Given the description of an element on the screen output the (x, y) to click on. 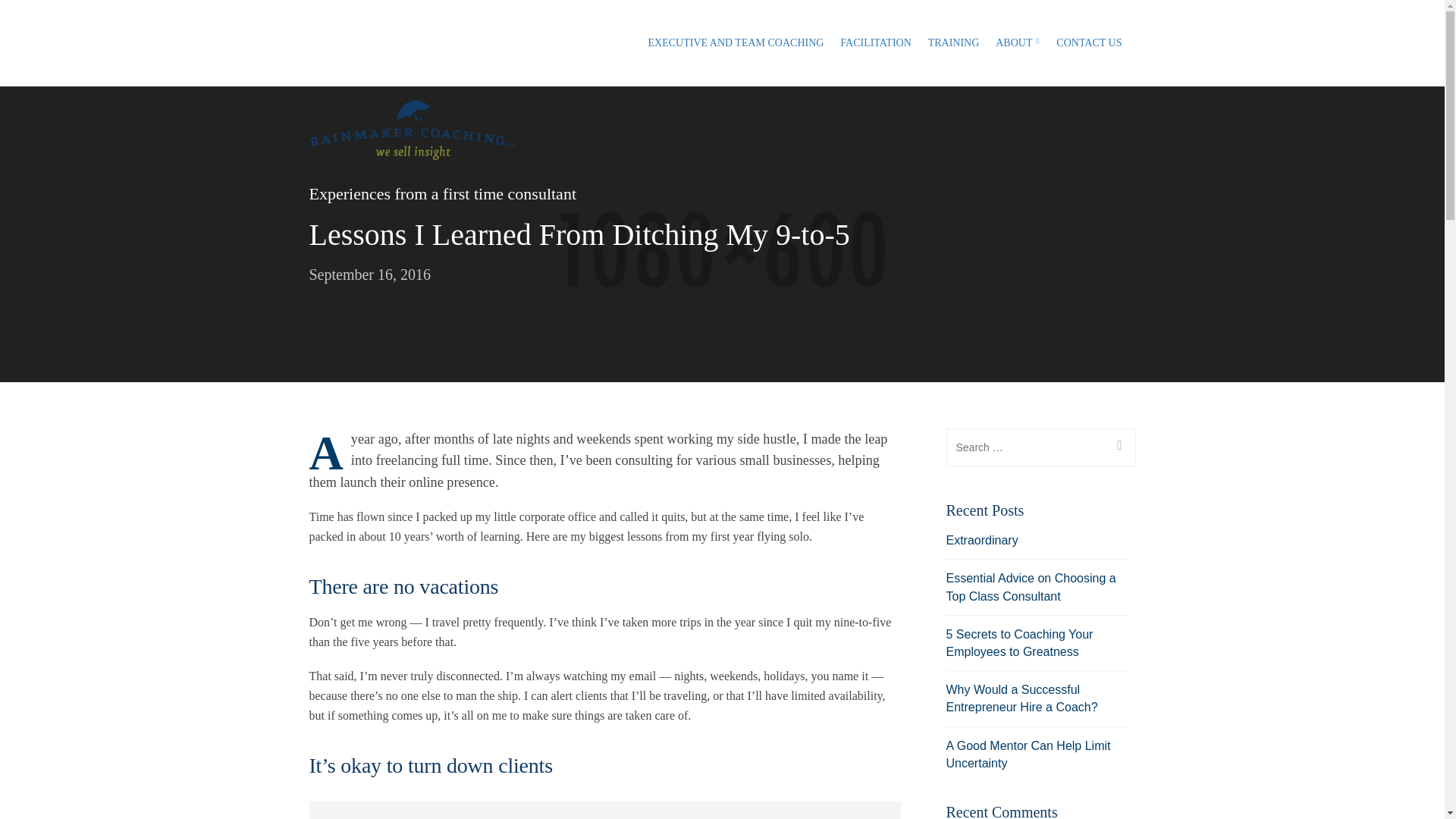
EXECUTIVE AND TEAM COACHING (735, 43)
Why Would a Successful Entrepreneur Hire a Coach? (1021, 698)
Search (18, 18)
Search (1117, 447)
Search (1117, 447)
5 Secrets to Coaching Your Employees to Greatness (1019, 643)
A Good Mentor Can Help Limit Uncertainty (1028, 753)
Extraordinary (981, 540)
Search (1117, 447)
Essential Advice on Choosing a Top Class Consultant (1031, 586)
